Given the description of an element on the screen output the (x, y) to click on. 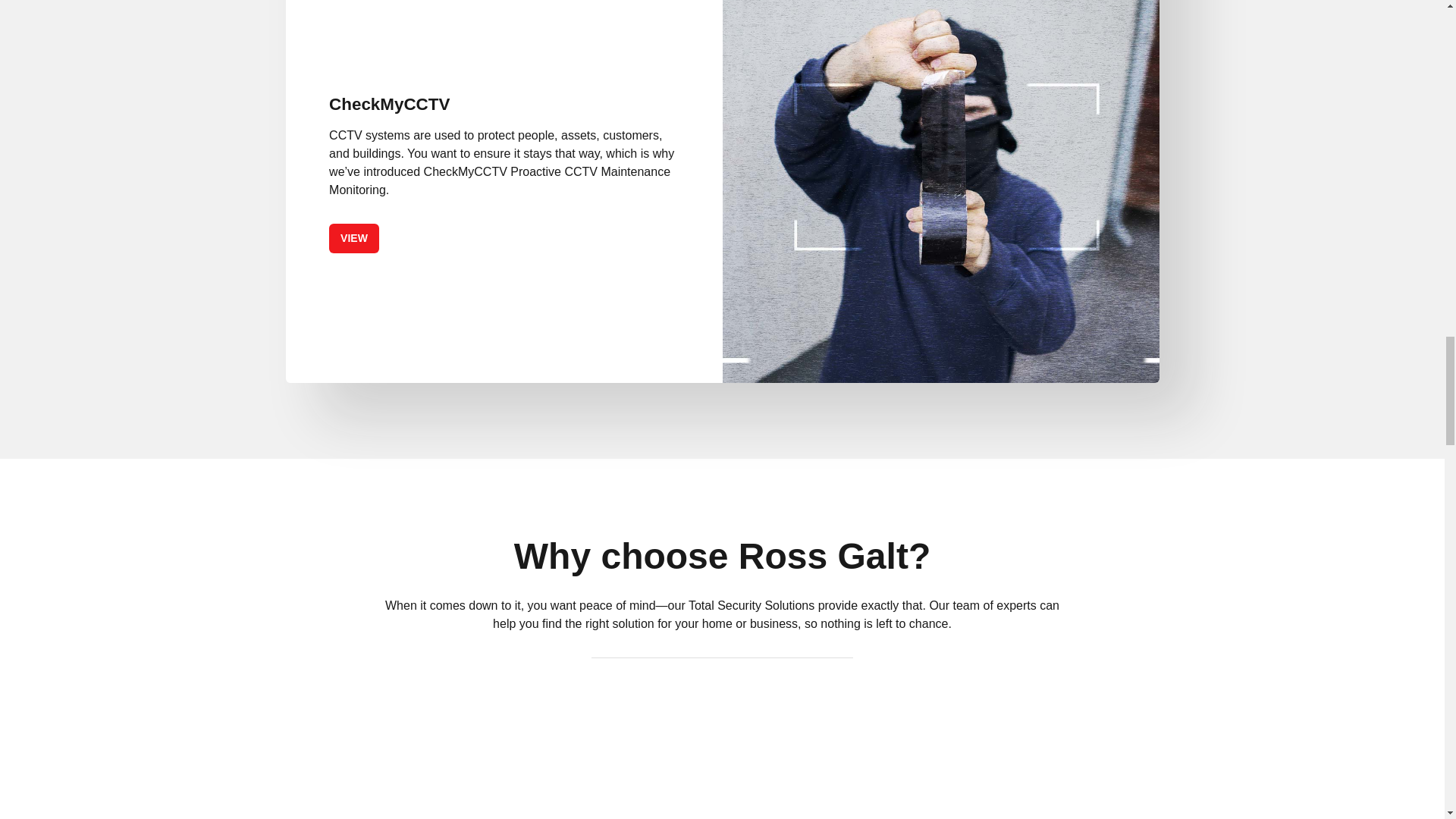
VIEW (353, 238)
